Given the description of an element on the screen output the (x, y) to click on. 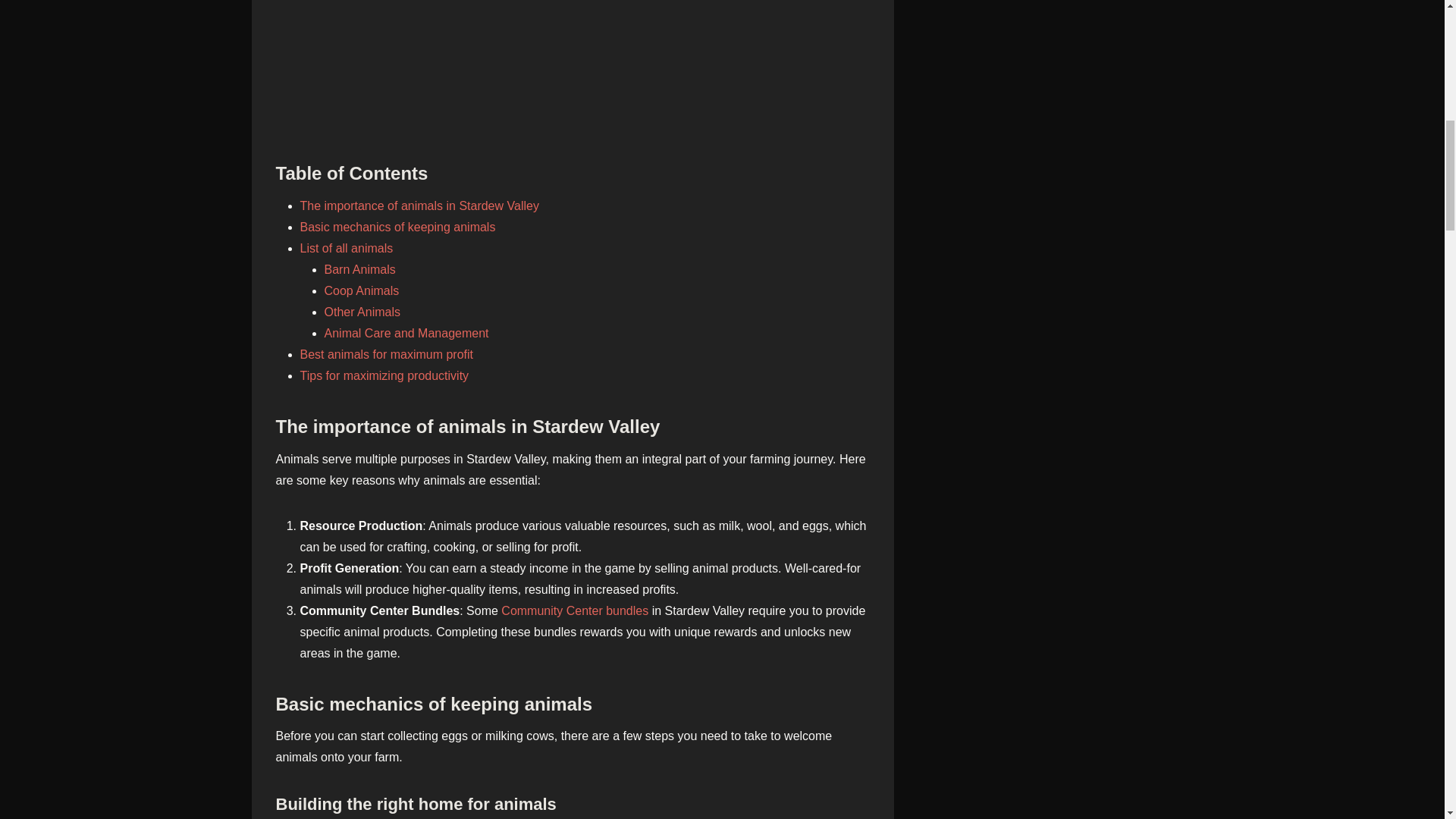
Basic mechanics of keeping animals (397, 226)
List of all animals (346, 247)
Other Animals (362, 311)
Best animals for maximum profit (386, 354)
The importance of animals in Stardew Valley (418, 205)
Barn Animals (360, 269)
Animal Care and Management (406, 332)
Coop Animals (361, 290)
